Given the description of an element on the screen output the (x, y) to click on. 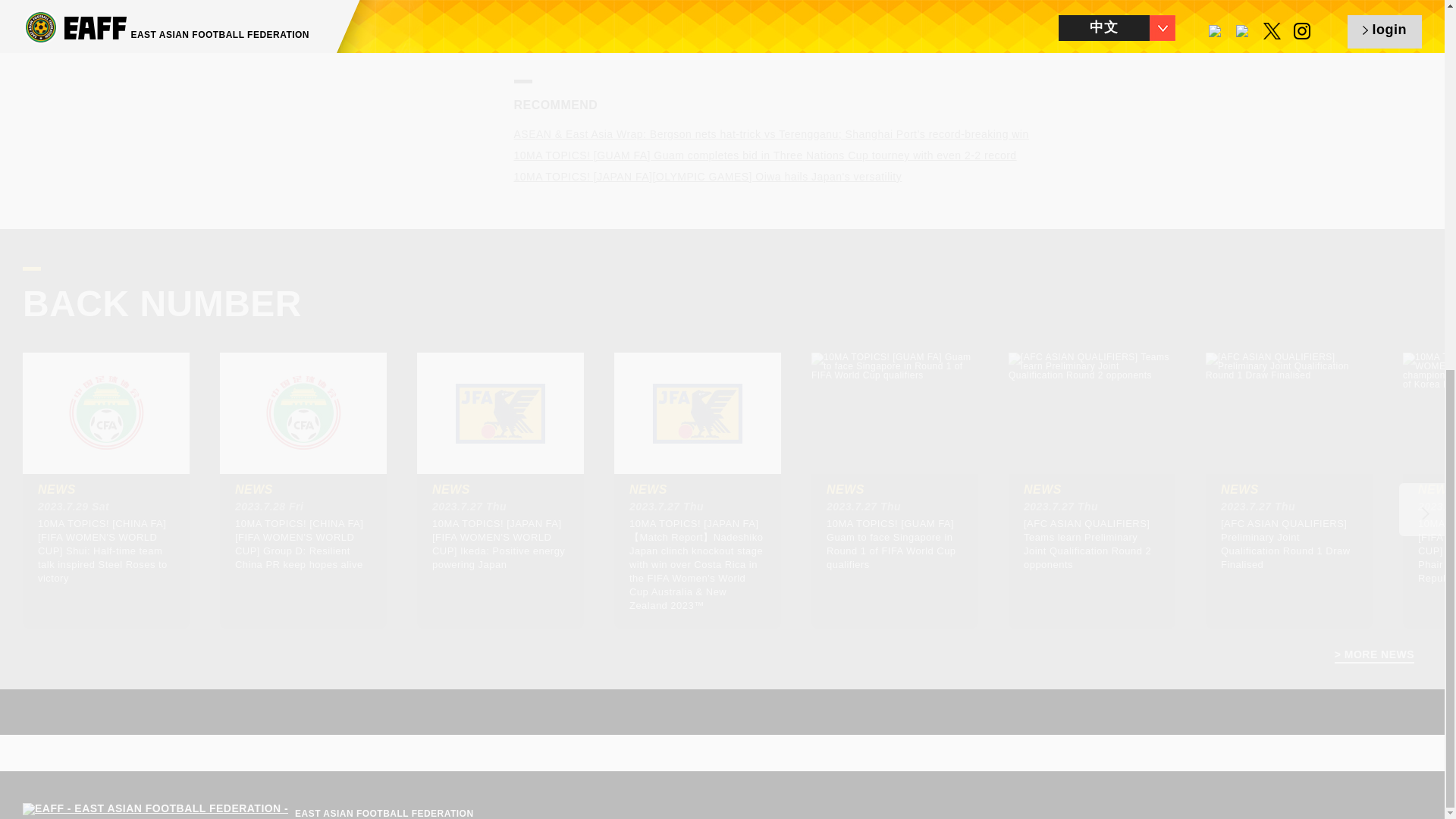
NEXT (538, 32)
BACK (1067, 32)
